Given the description of an element on the screen output the (x, y) to click on. 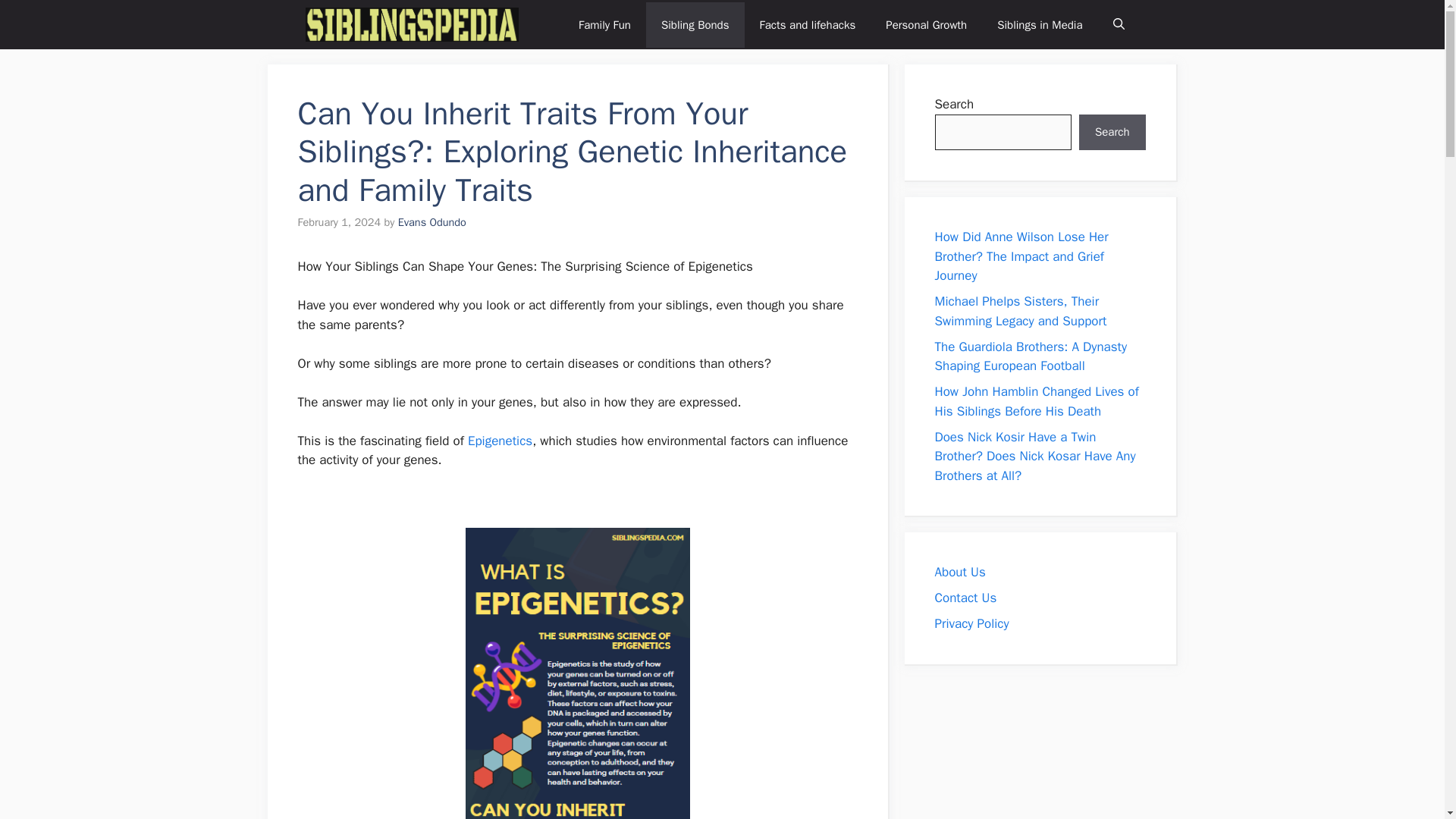
Siblings in Media (1039, 23)
Family Fun (604, 23)
Personal Growth (925, 23)
View all posts by Evans Odundo (431, 222)
Facts and lifehacks (807, 23)
Epigenetics (499, 440)
Evans Odundo (431, 222)
Siblingspedia (411, 24)
Search (1111, 131)
